Given the description of an element on the screen output the (x, y) to click on. 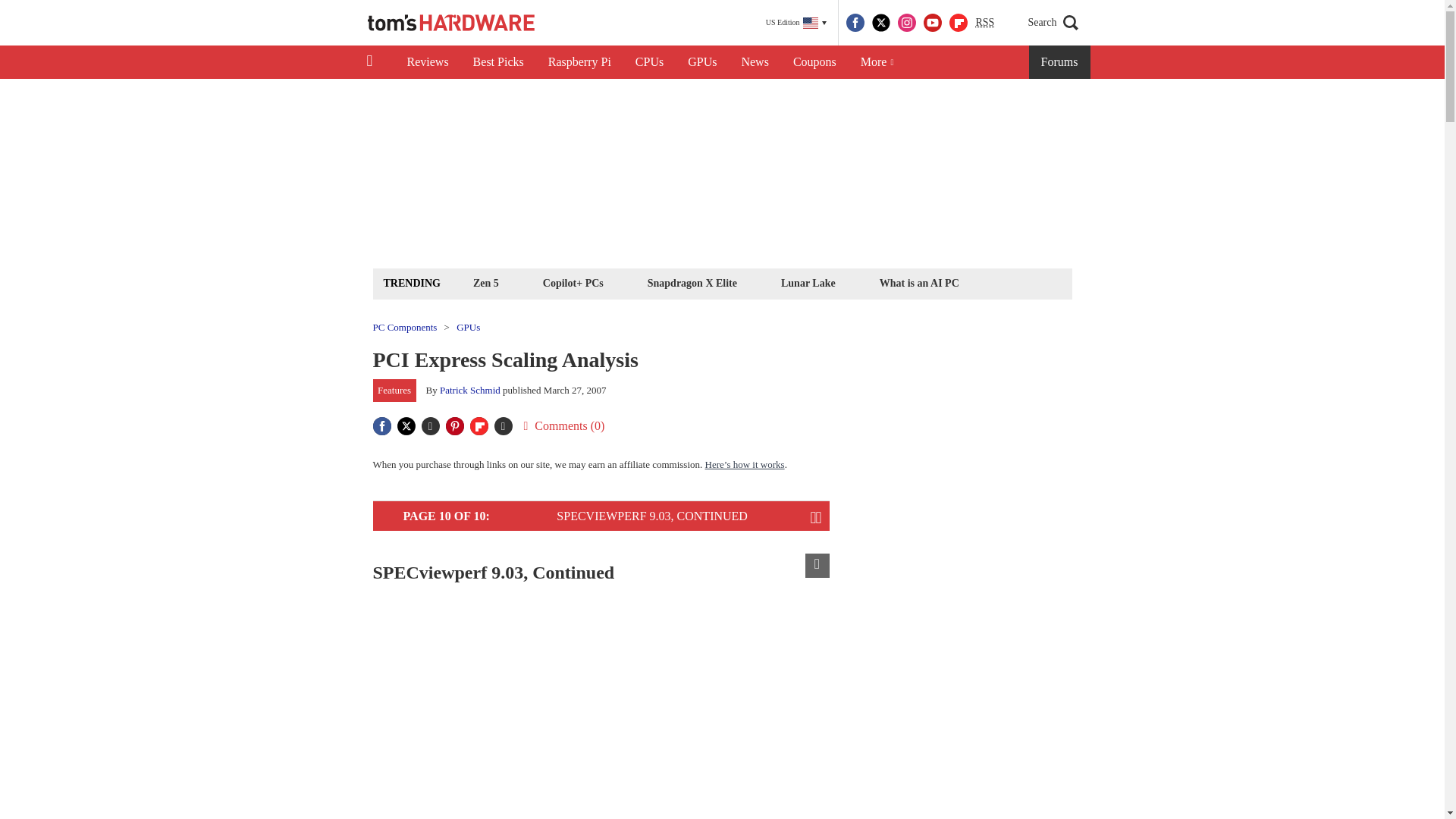
RSS (984, 22)
Zen 5 (485, 282)
Reviews (427, 61)
Really Simple Syndication (984, 21)
News (754, 61)
Best Picks (498, 61)
Forums (1059, 61)
CPUs (649, 61)
US Edition (796, 22)
Coupons (814, 61)
Raspberry Pi (579, 61)
GPUs (702, 61)
